Given the description of an element on the screen output the (x, y) to click on. 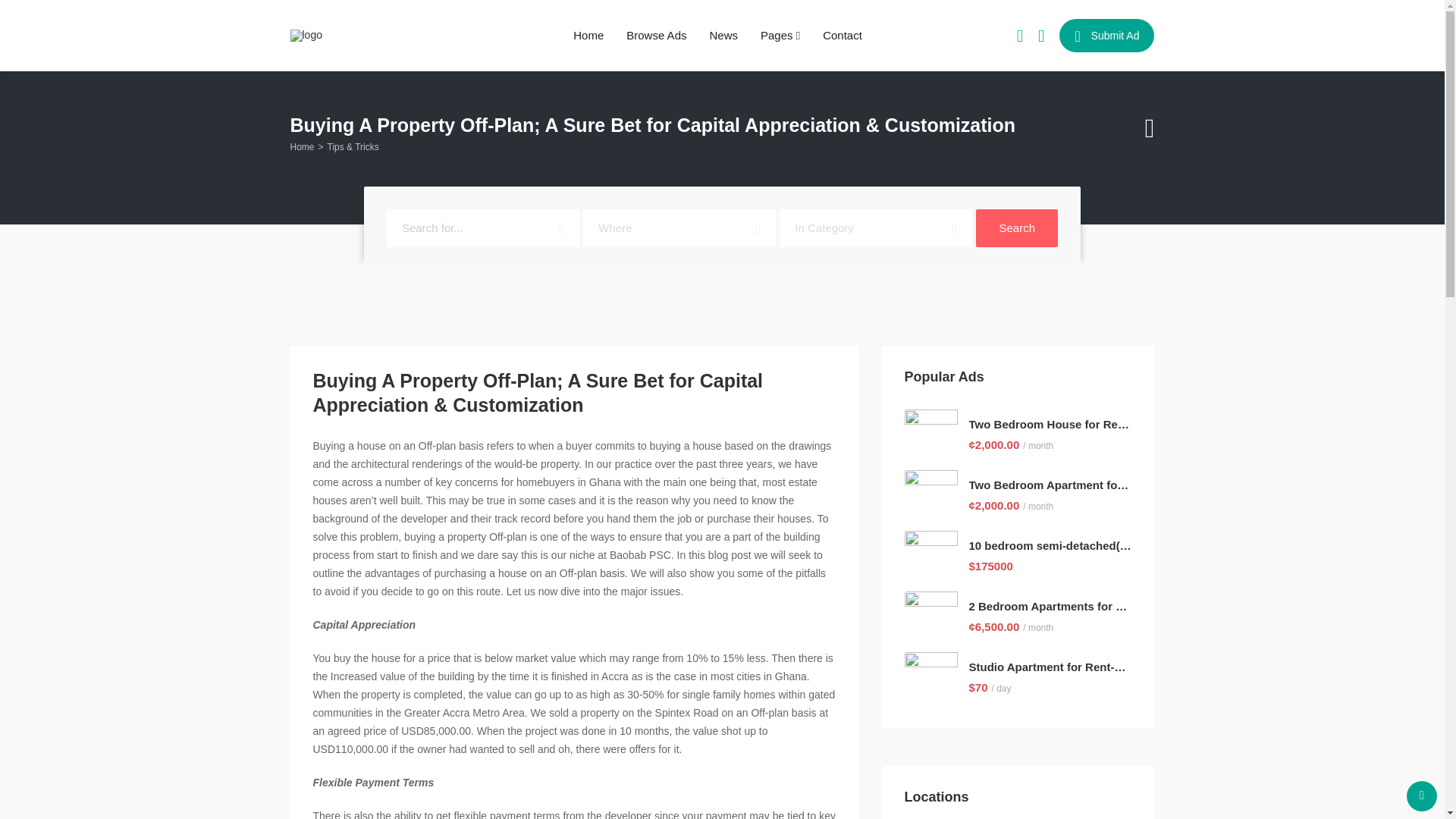
News (723, 35)
Browse Ads (655, 35)
News (723, 35)
Home (588, 35)
Two Bedroom House for Rent-Tema Comm 22 (1050, 424)
Search (1016, 228)
Studio Apartment for Rent-Osu (1050, 667)
Contact (841, 35)
2 Bedroom Apartments for Rent-East Legon Hills (1050, 606)
Browse Ads (655, 35)
Pages (779, 35)
Two Bedroom House for Rent-Tema Comm 22 (1050, 424)
Two Bedroom Apartment for Rent-Lakeside Estate (1050, 485)
Pages (779, 35)
Home (301, 147)
